Given the description of an element on the screen output the (x, y) to click on. 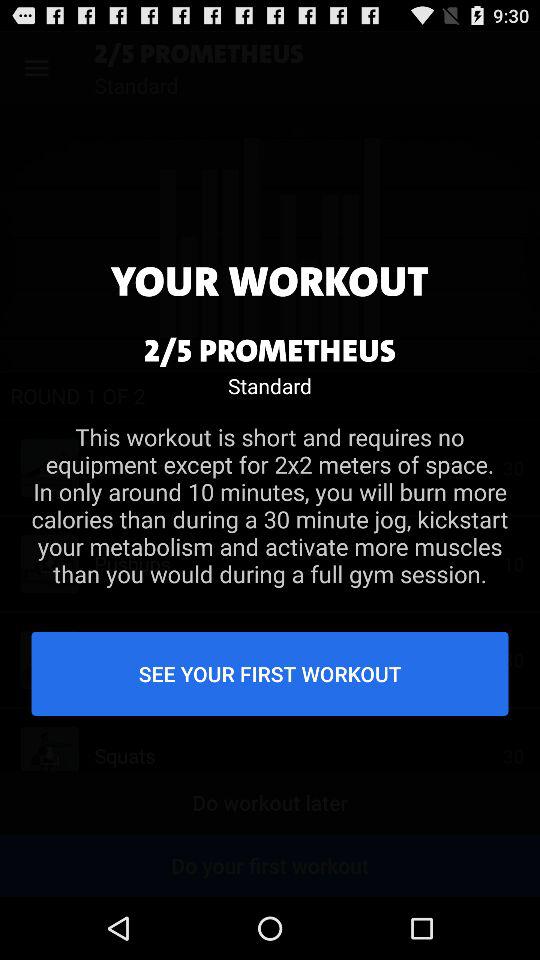
flip until the see your first (269, 673)
